Given the description of an element on the screen output the (x, y) to click on. 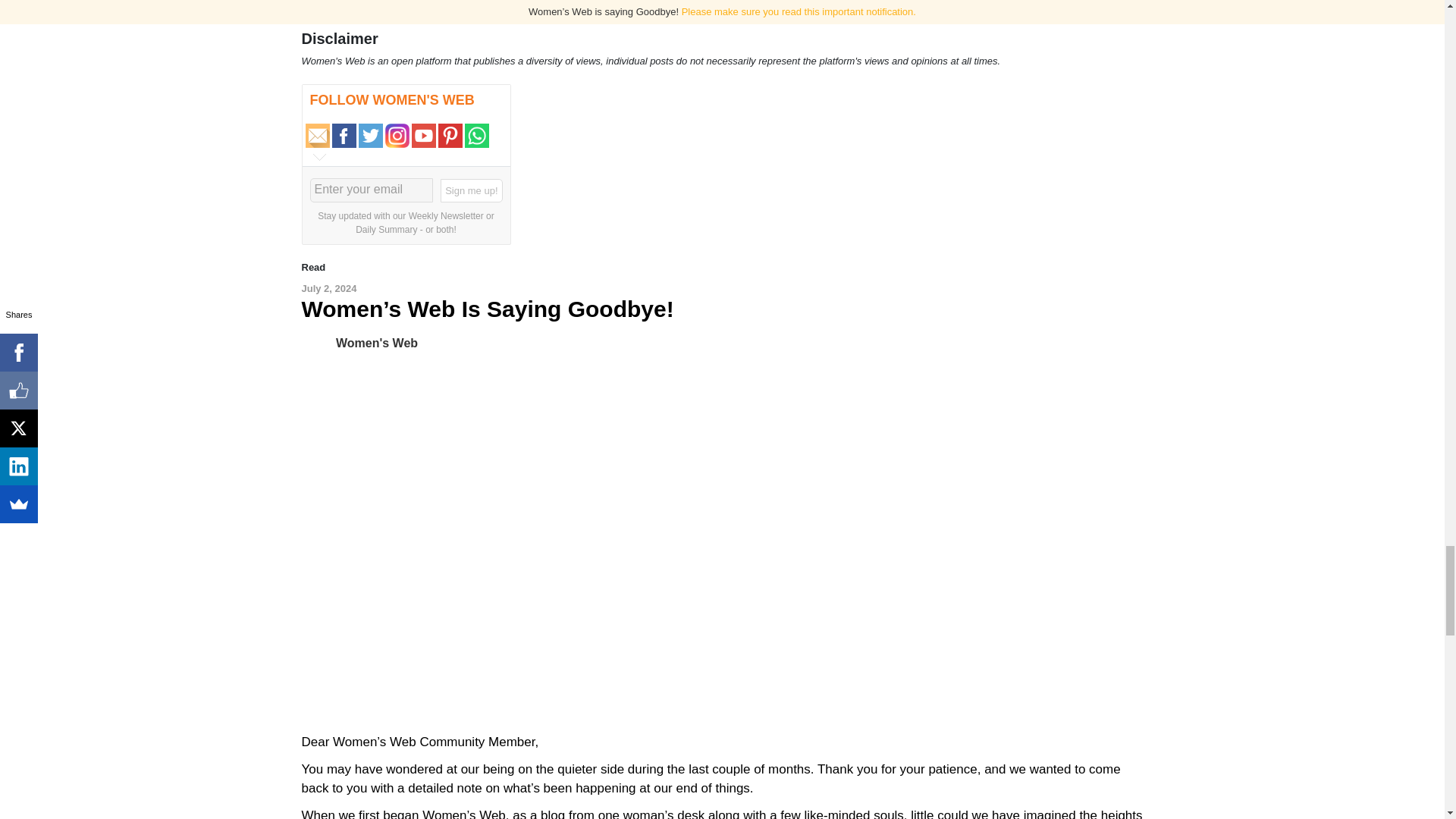
Women's Web (376, 342)
Sign me up! (471, 191)
Women's Web (318, 342)
